Given the description of an element on the screen output the (x, y) to click on. 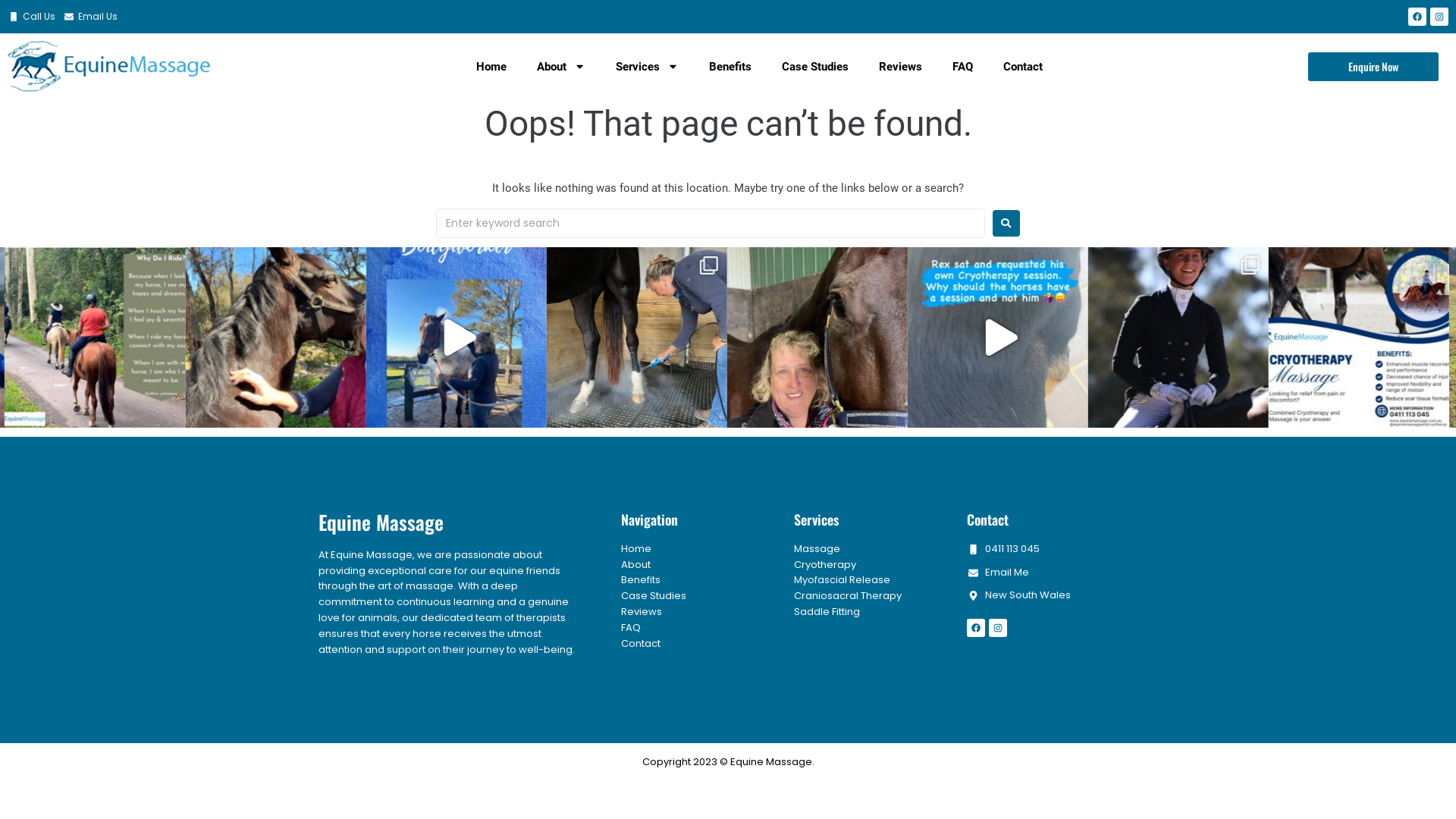
Craniosacral Therapy Element type: text (847, 595)
Cryotherapy Element type: text (824, 564)
FAQ Element type: text (962, 66)
Case Studies Element type: text (814, 66)
Call Us Element type: text (31, 16)
Home Element type: text (491, 66)
Contact Element type: text (1022, 66)
Contact Element type: text (640, 643)
Benefits Element type: text (729, 66)
Email Me Element type: text (997, 572)
FAQ Element type: text (630, 627)
Email Us Element type: text (89, 16)
Reviews Element type: text (900, 66)
Saddle Fitting Element type: text (826, 611)
Enquire Now Element type: text (1373, 66)
0411 113 045 Element type: text (1002, 549)
Massage Element type: text (816, 548)
Home Element type: text (636, 548)
Services Element type: text (646, 66)
Benefits Element type: text (640, 579)
Myofascial Release Element type: text (841, 579)
About Element type: text (560, 66)
Case Studies Element type: text (653, 595)
About Element type: text (635, 564)
Reviews Element type: text (641, 611)
